Given the description of an element on the screen output the (x, y) to click on. 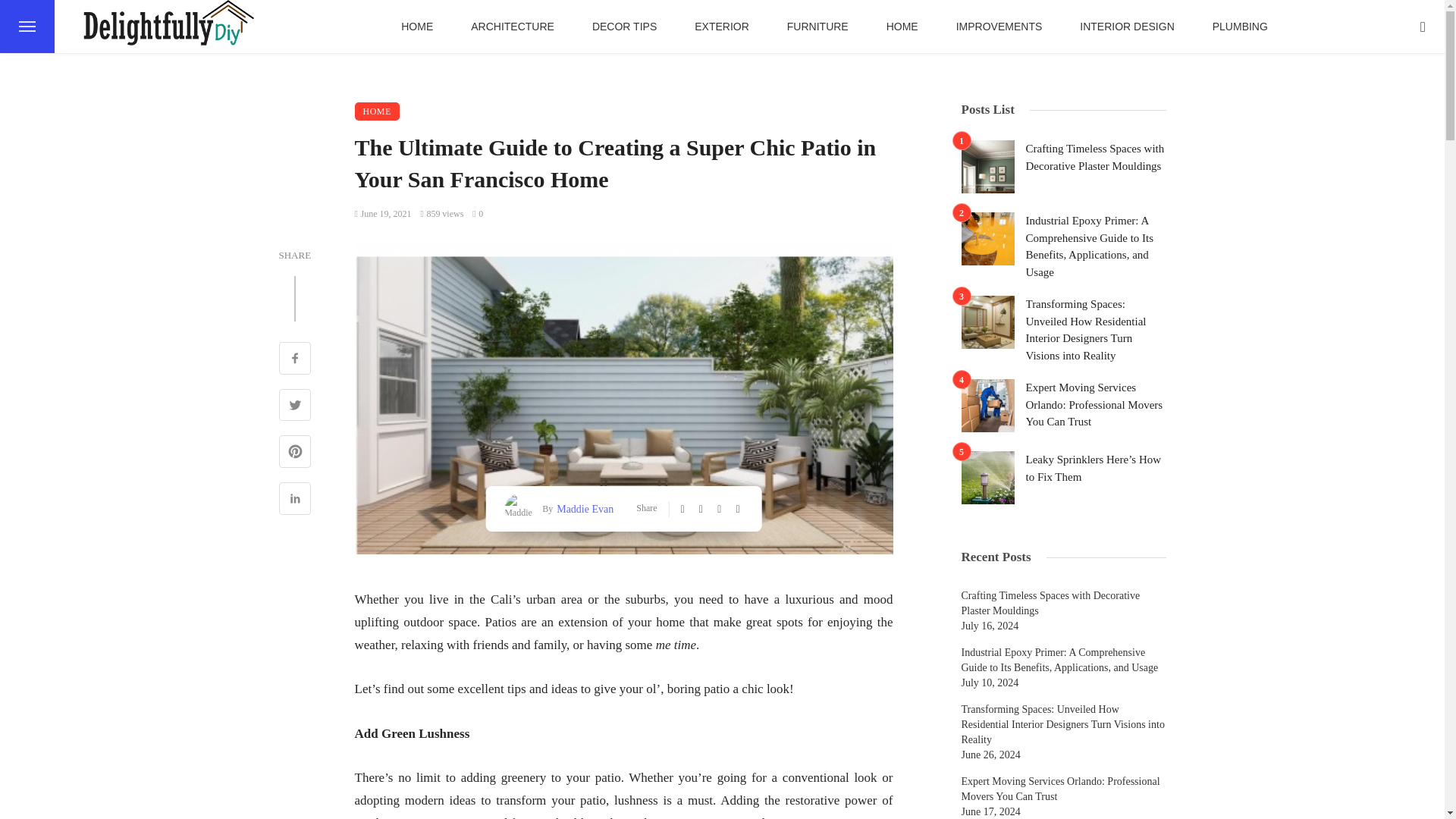
HOME (902, 26)
Share on Facebook (295, 360)
INTERIOR DESIGN (1126, 26)
June 19, 2021 at 1:16 pm (383, 213)
Share on Twitter (295, 407)
FURNITURE (817, 26)
EXTERIOR (721, 26)
HOME (376, 111)
Posts by Maddie Evan (582, 508)
Maddie Evan (582, 508)
HOME (416, 26)
PLUMBING (1240, 26)
0 (477, 213)
DECOR TIPS (624, 26)
Share on Linkedin (295, 500)
